Given the description of an element on the screen output the (x, y) to click on. 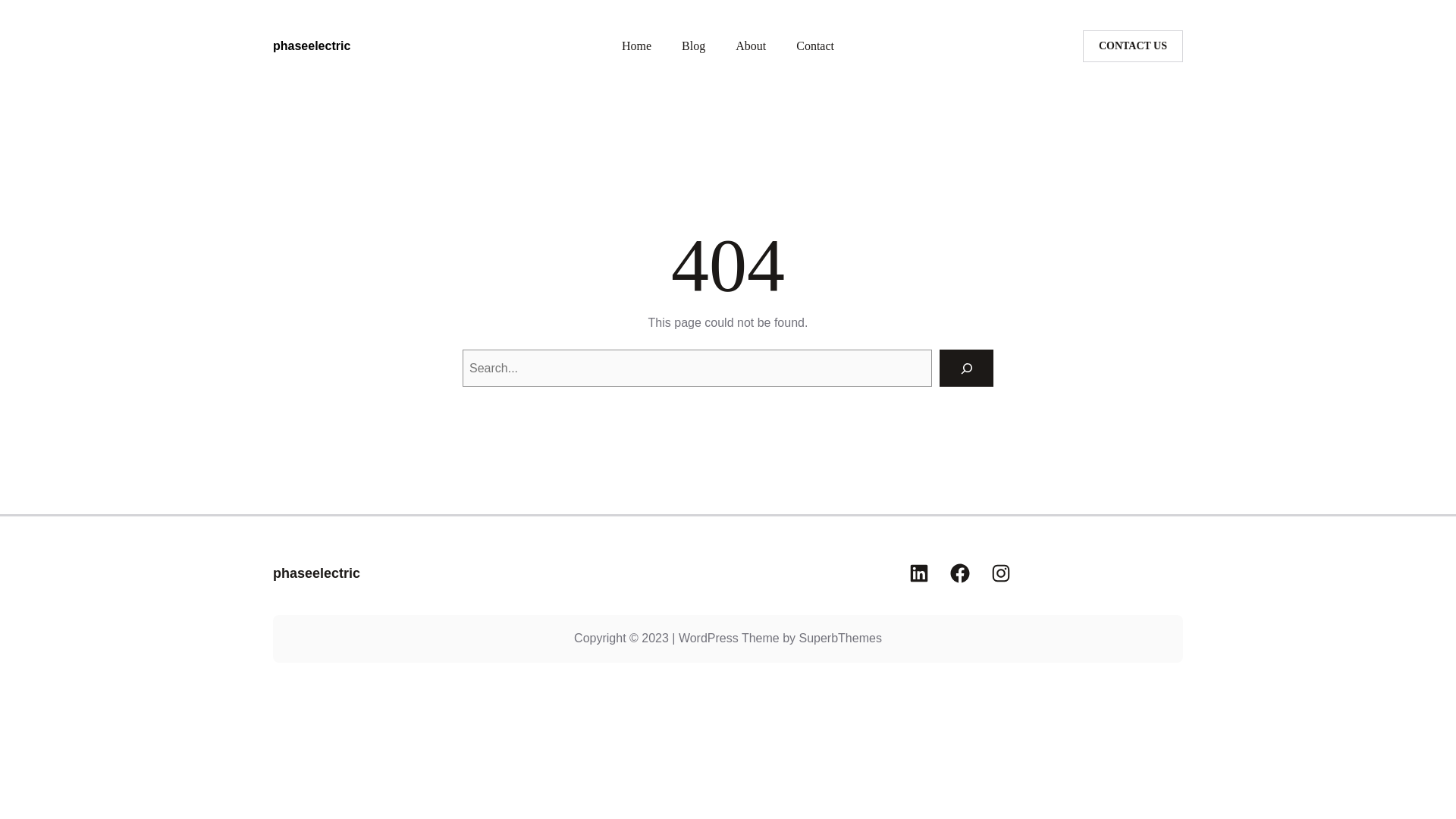
SuperbThemes (838, 637)
phaseelectric (311, 45)
Facebook (960, 572)
Instagram (1000, 572)
CONTACT US (1132, 46)
About (750, 46)
Home (635, 46)
phaseelectric (316, 572)
LinkedIn (918, 572)
Blog (692, 46)
Contact (815, 46)
